Given the description of an element on the screen output the (x, y) to click on. 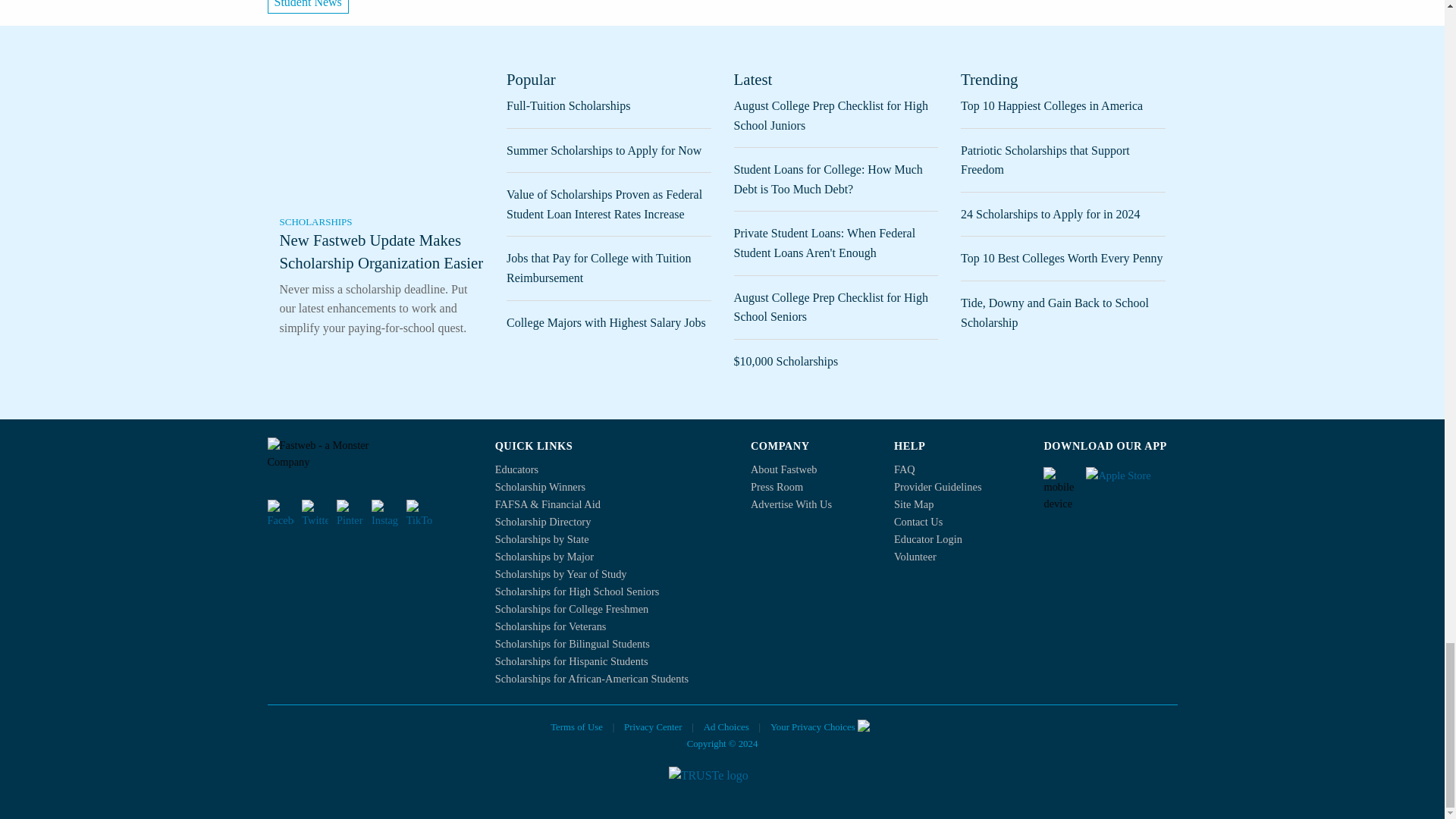
Fastweb on TikTok (419, 512)
Fastweb on Facebook (280, 512)
Fastweb on Instagram (384, 512)
Fastweb on IOS (1131, 480)
Fastweb on Pinterest (349, 512)
